Given the description of an element on the screen output the (x, y) to click on. 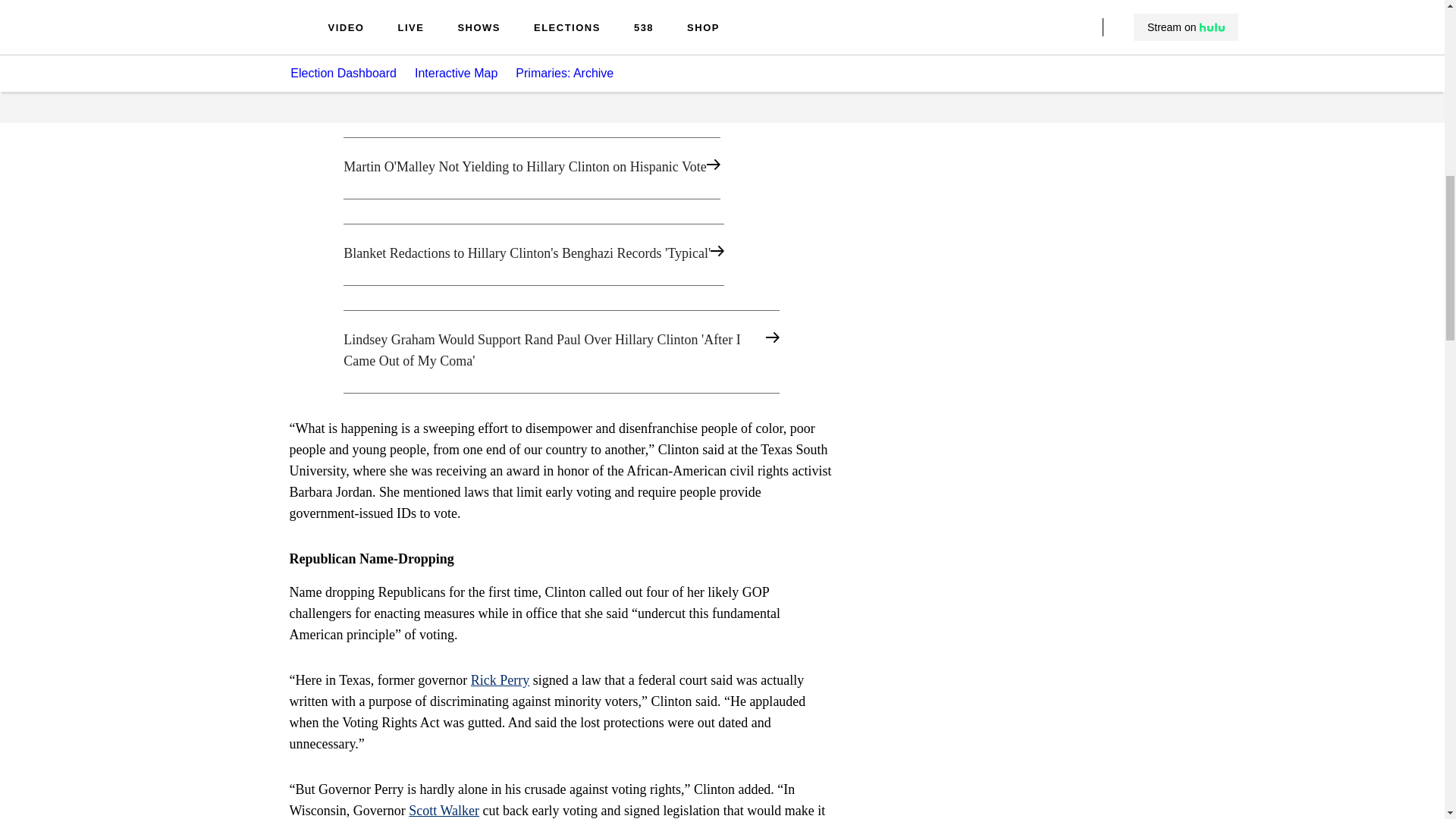
Scott Walker (444, 810)
Rick Perry (499, 679)
